Given the description of an element on the screen output the (x, y) to click on. 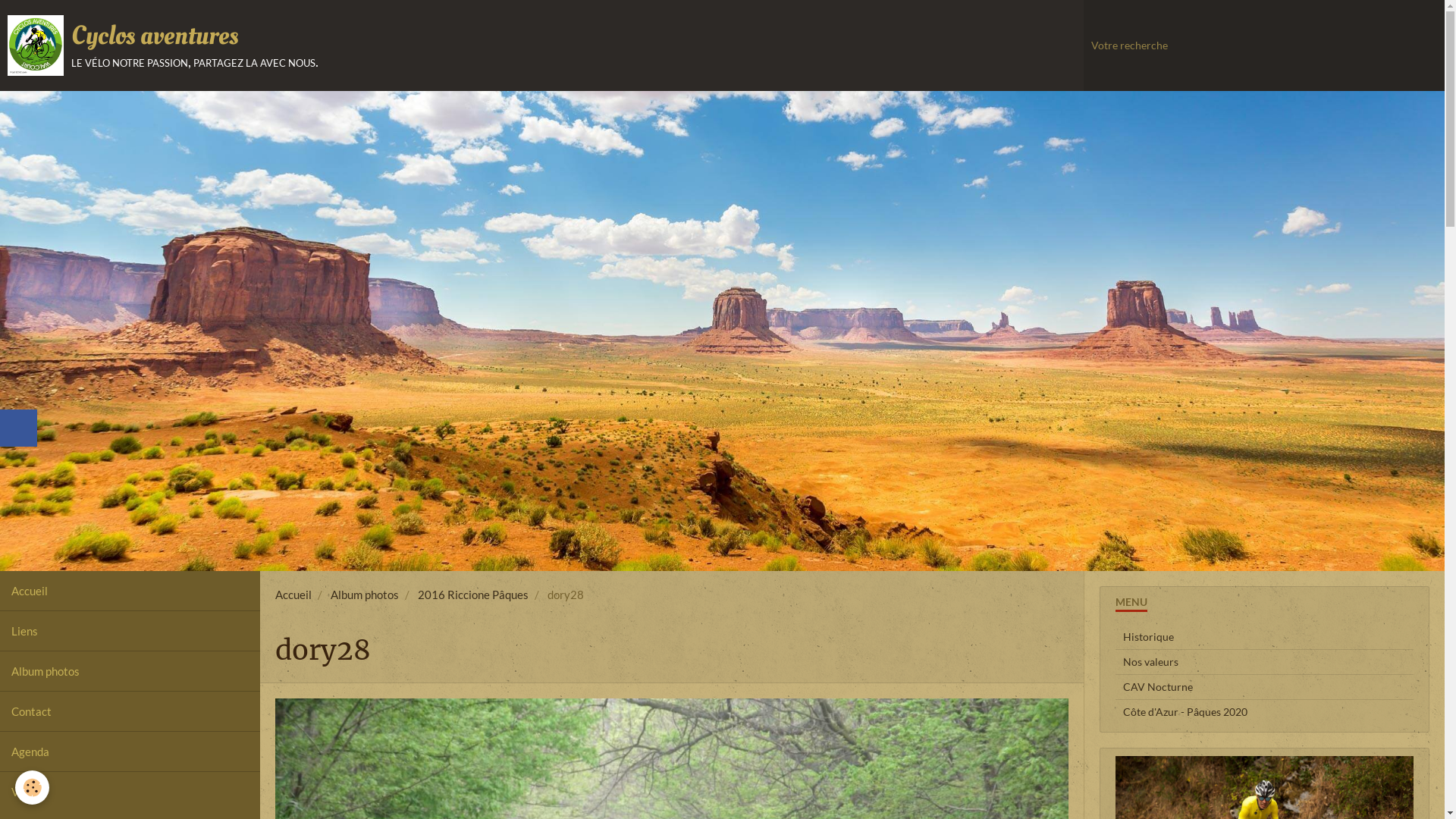
Contact Element type: text (130, 711)
Liens Element type: text (130, 630)
Nos valeurs Element type: text (1264, 661)
Accueil Element type: text (130, 589)
Album photos Element type: text (364, 593)
Historique Element type: text (1264, 636)
CAV Nocturne Element type: text (1264, 686)
Album photos Element type: text (130, 670)
Accueil Element type: text (293, 593)
Agenda Element type: text (130, 750)
